Given the description of an element on the screen output the (x, y) to click on. 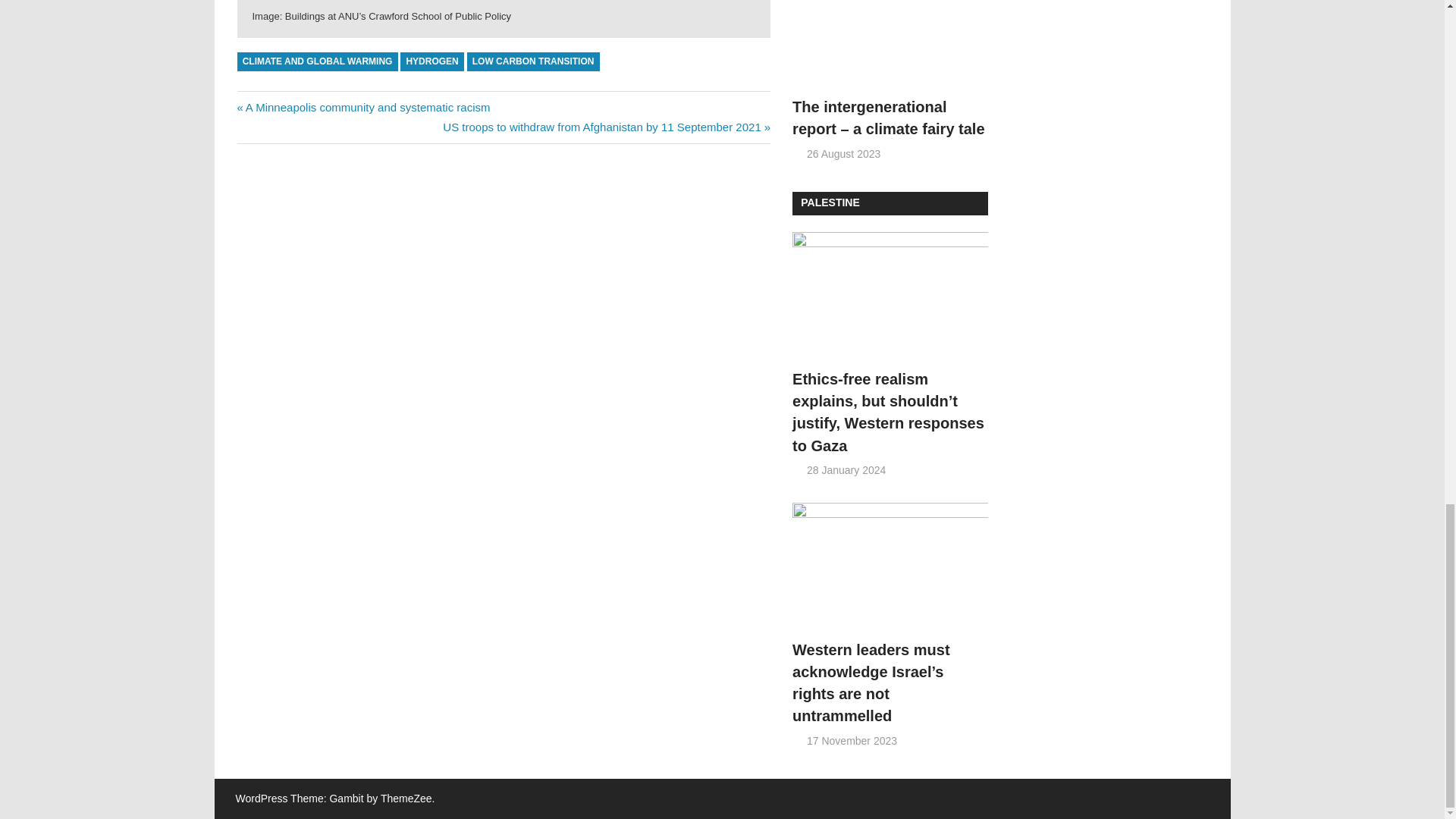
11:52 pm (845, 469)
CLIMATE AND GLOBAL WARMING (316, 61)
LOW CARBON TRANSITION (533, 61)
1:31 am (843, 153)
View all posts from category Palestine (830, 202)
HYDROGEN (432, 61)
12:21 am (362, 106)
